Given the description of an element on the screen output the (x, y) to click on. 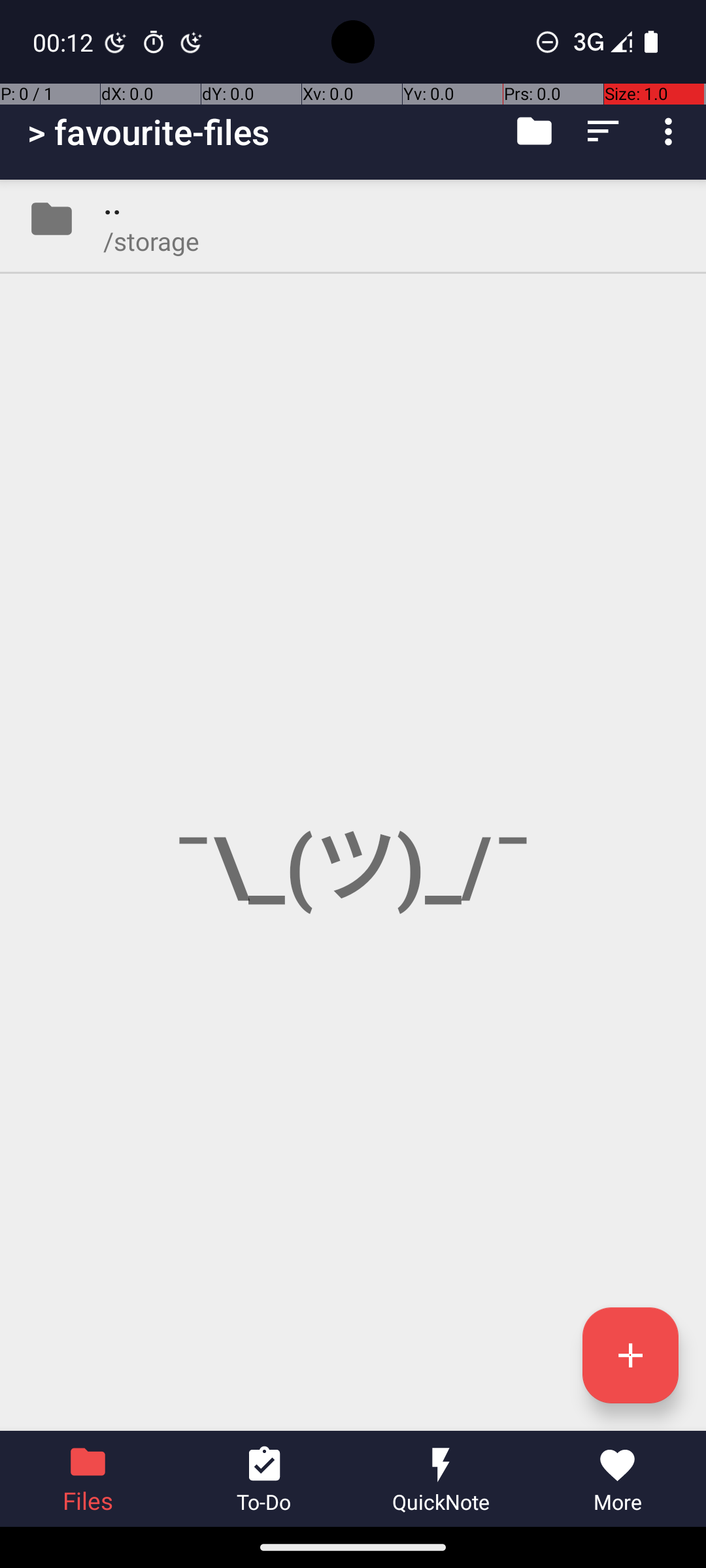
> favourite-files Element type: android.widget.TextView (148, 131)
Folder .. /storage/emulated/0/Documents/markor Element type: android.widget.LinearLayout (353, 218)
00:12 Element type: android.widget.TextView (64, 41)
Digital Wellbeing notification: Bedtime mode is on Element type: android.widget.ImageView (115, 41)
Digital Wellbeing notification: Do Not Disturb for Bedtime mode Element type: android.widget.ImageView (191, 41)
